Given the description of an element on the screen output the (x, y) to click on. 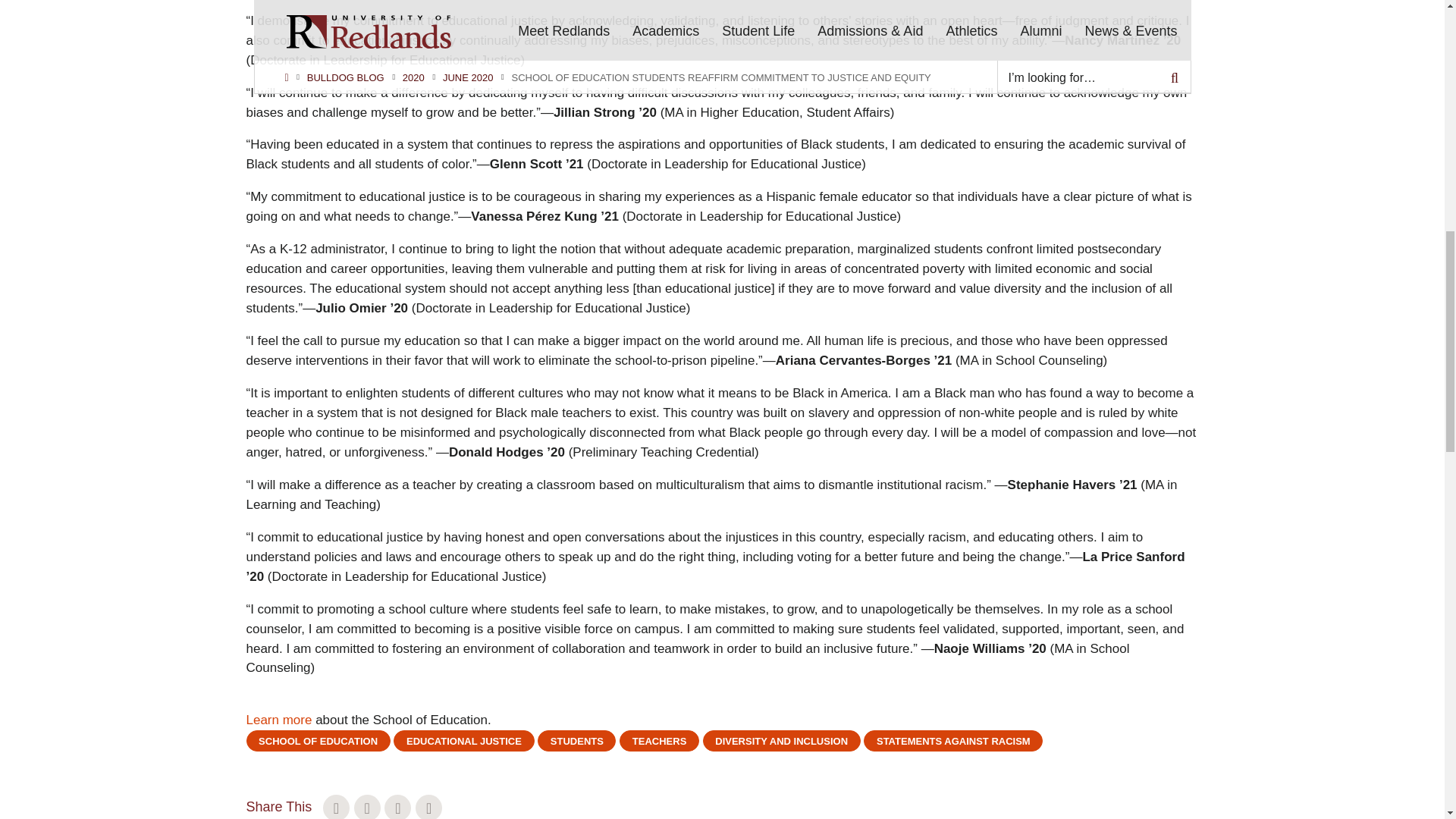
EDUCATIONAL JUSTICE (463, 740)
STUDENTS (576, 740)
Twitter (336, 806)
Pinterest (428, 806)
DIVERSITY AND INCLUSION (781, 740)
TEACHERS (659, 740)
Facebook (366, 806)
Learn more (278, 719)
LinkedIn (397, 806)
STATEMENTS AGAINST RACISM (952, 740)
